Given the description of an element on the screen output the (x, y) to click on. 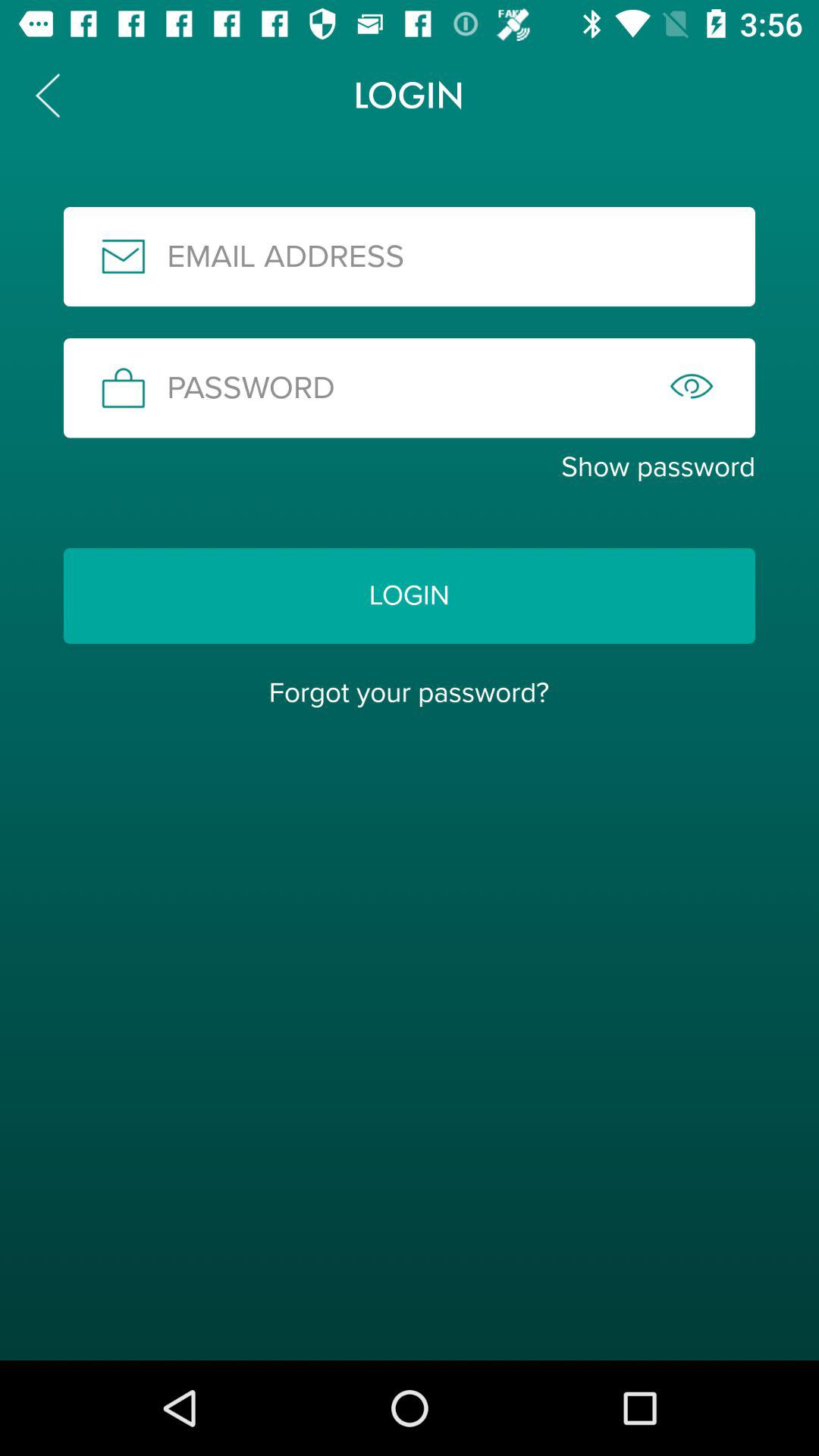
back to previous page (47, 95)
